Given the description of an element on the screen output the (x, y) to click on. 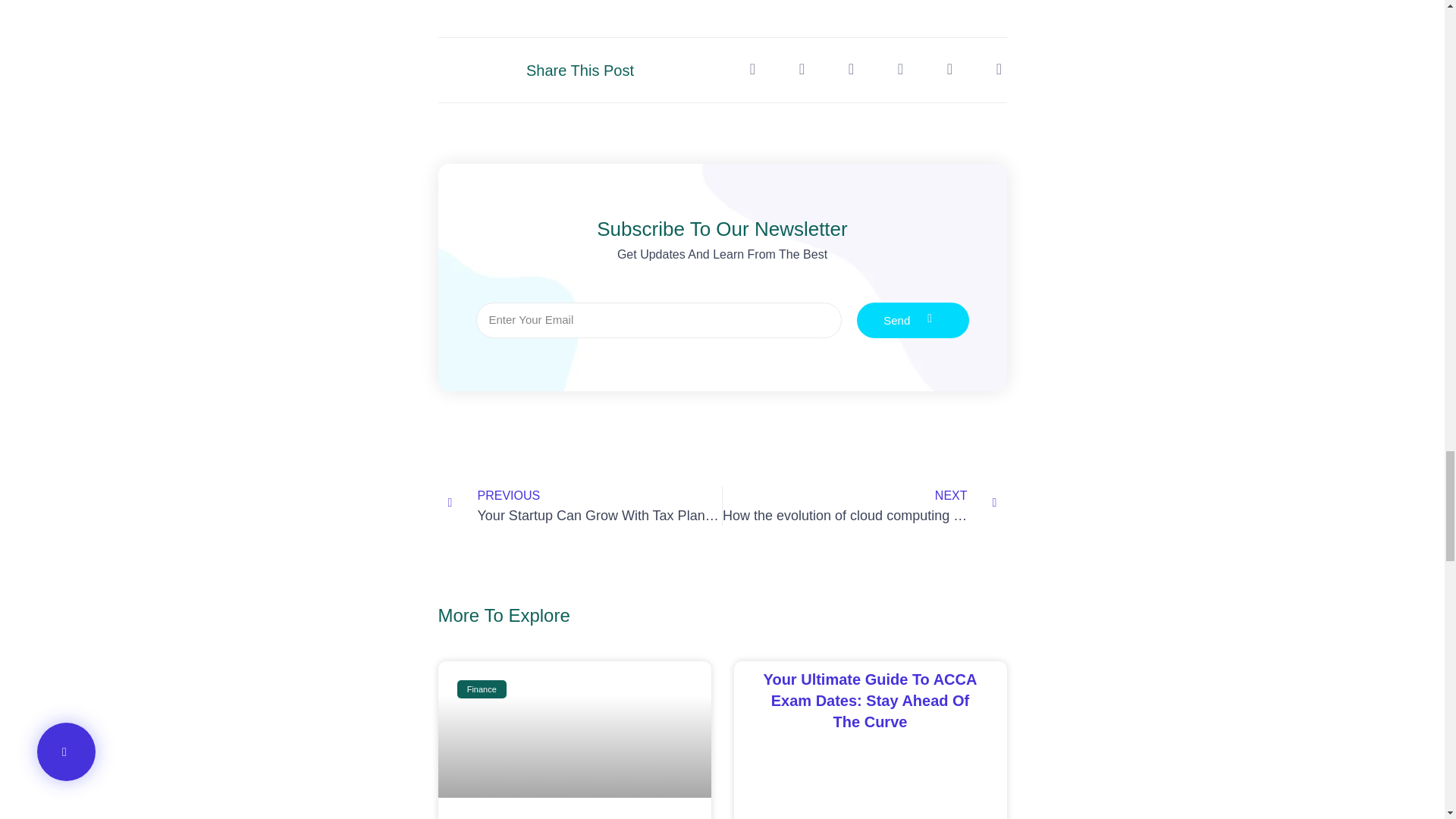
Send (913, 320)
